Given the description of an element on the screen output the (x, y) to click on. 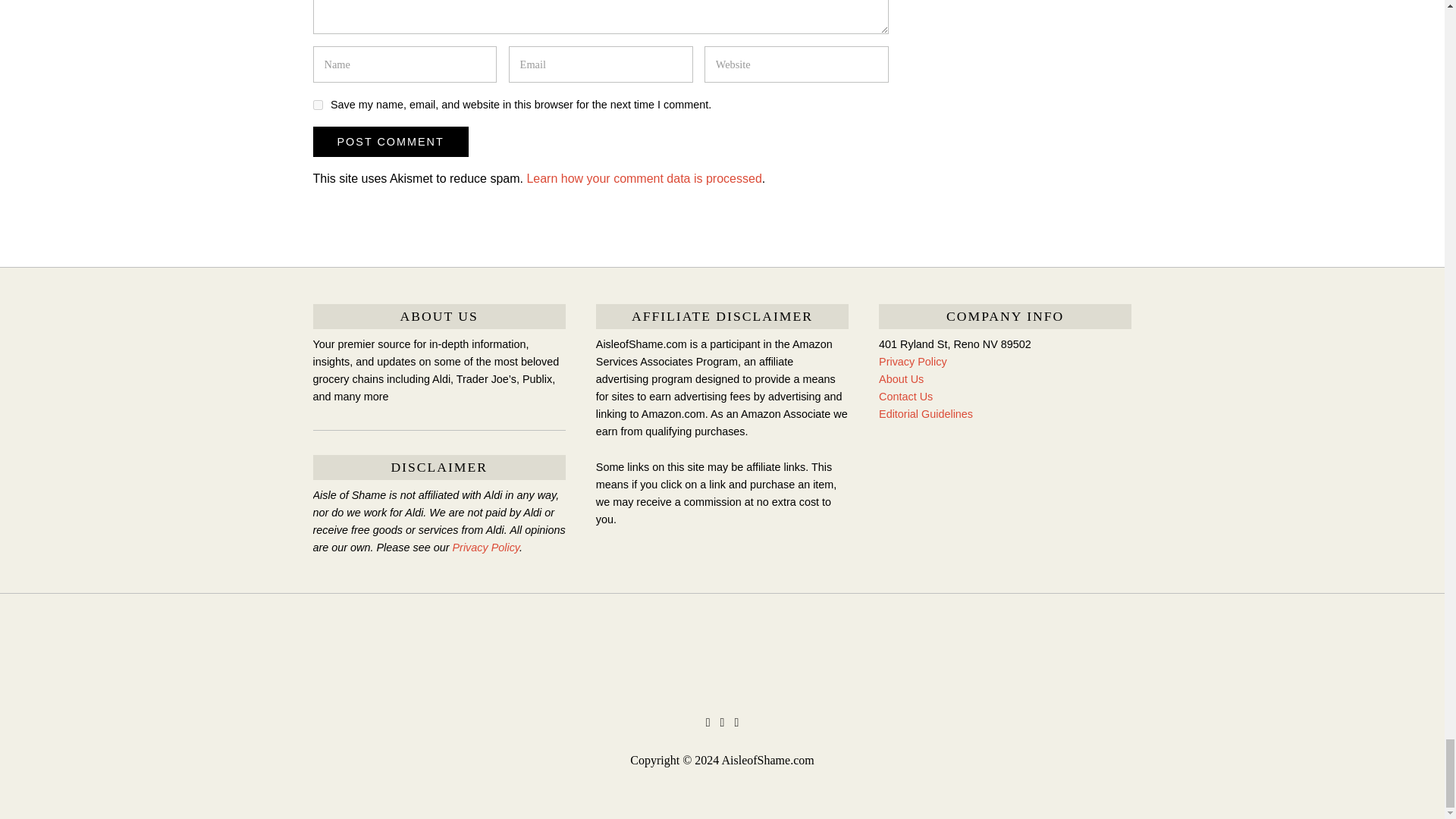
yes (317, 104)
Post Comment (390, 141)
